Given the description of an element on the screen output the (x, y) to click on. 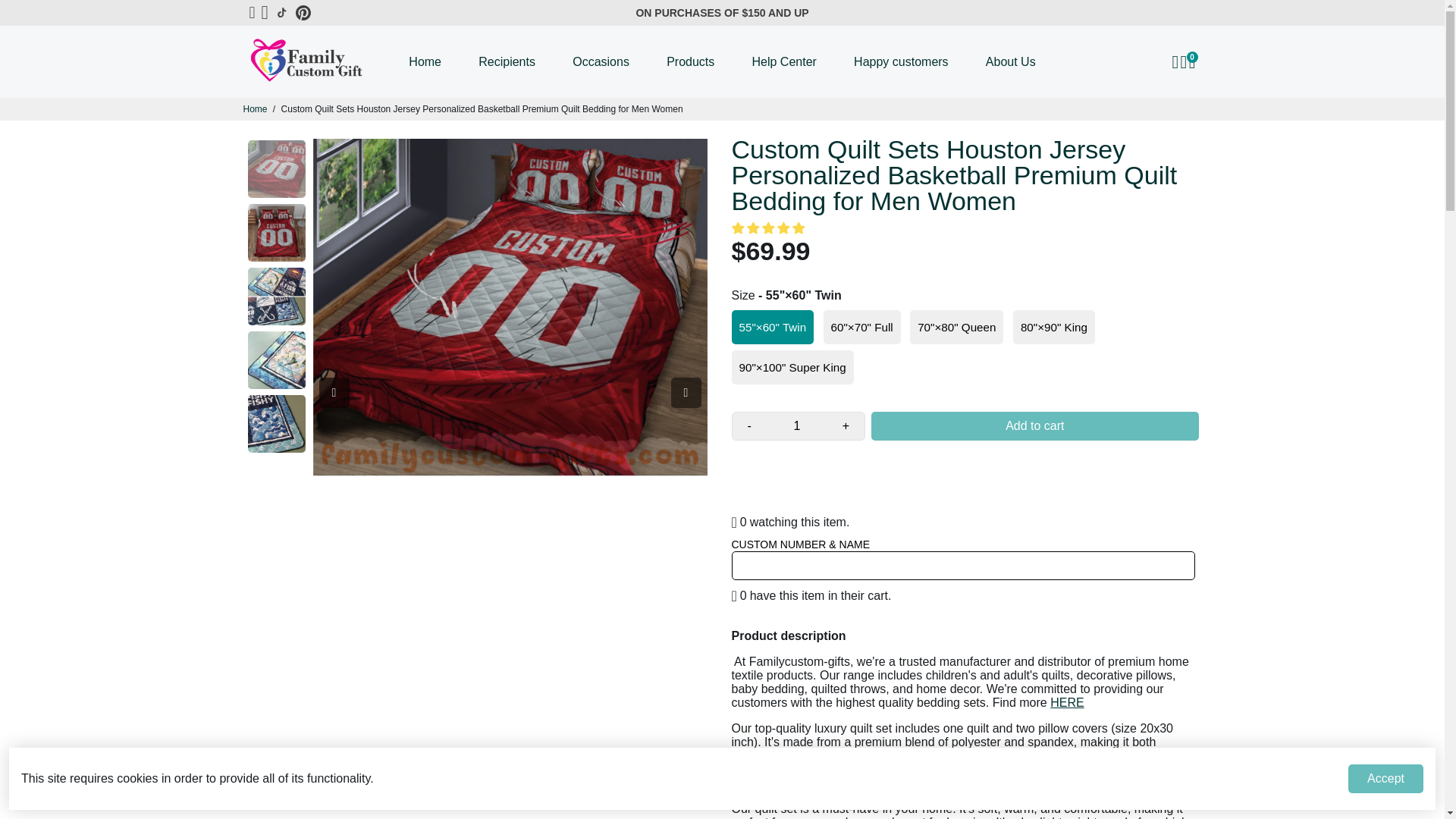
Help Center (783, 61)
Recipients (506, 61)
Occasions (601, 61)
Custom quilt bed sets (1066, 702)
About Us (1011, 61)
Products (689, 61)
Home (254, 109)
Happy customers (900, 61)
1 (797, 425)
